Given the description of an element on the screen output the (x, y) to click on. 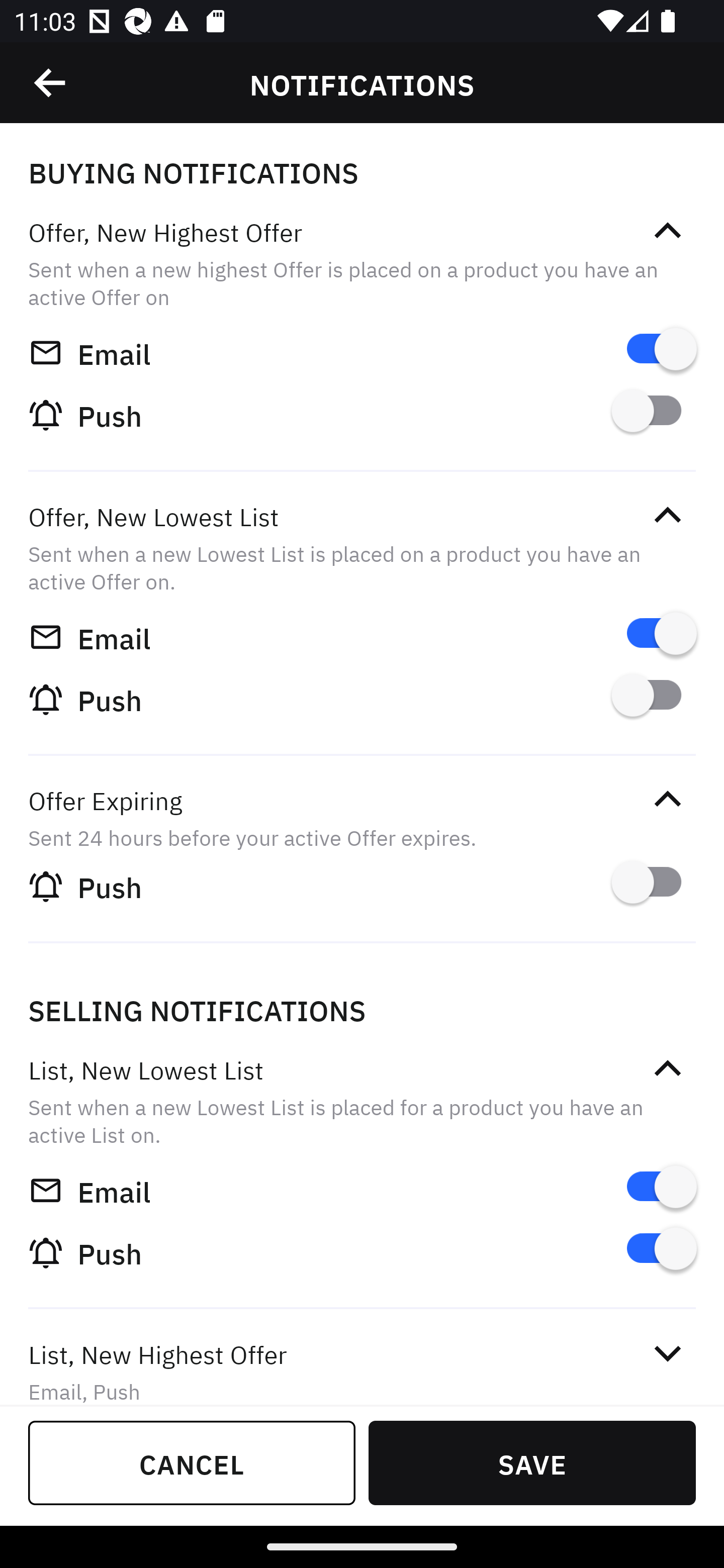
 (50, 83)
 (667, 231)
 (667, 514)
 (667, 799)
 (667, 1068)
List, New Highest Offer  Email, Push (361, 1358)
 (667, 1353)
CANCEL (191, 1462)
SAVE (531, 1462)
